Given the description of an element on the screen output the (x, y) to click on. 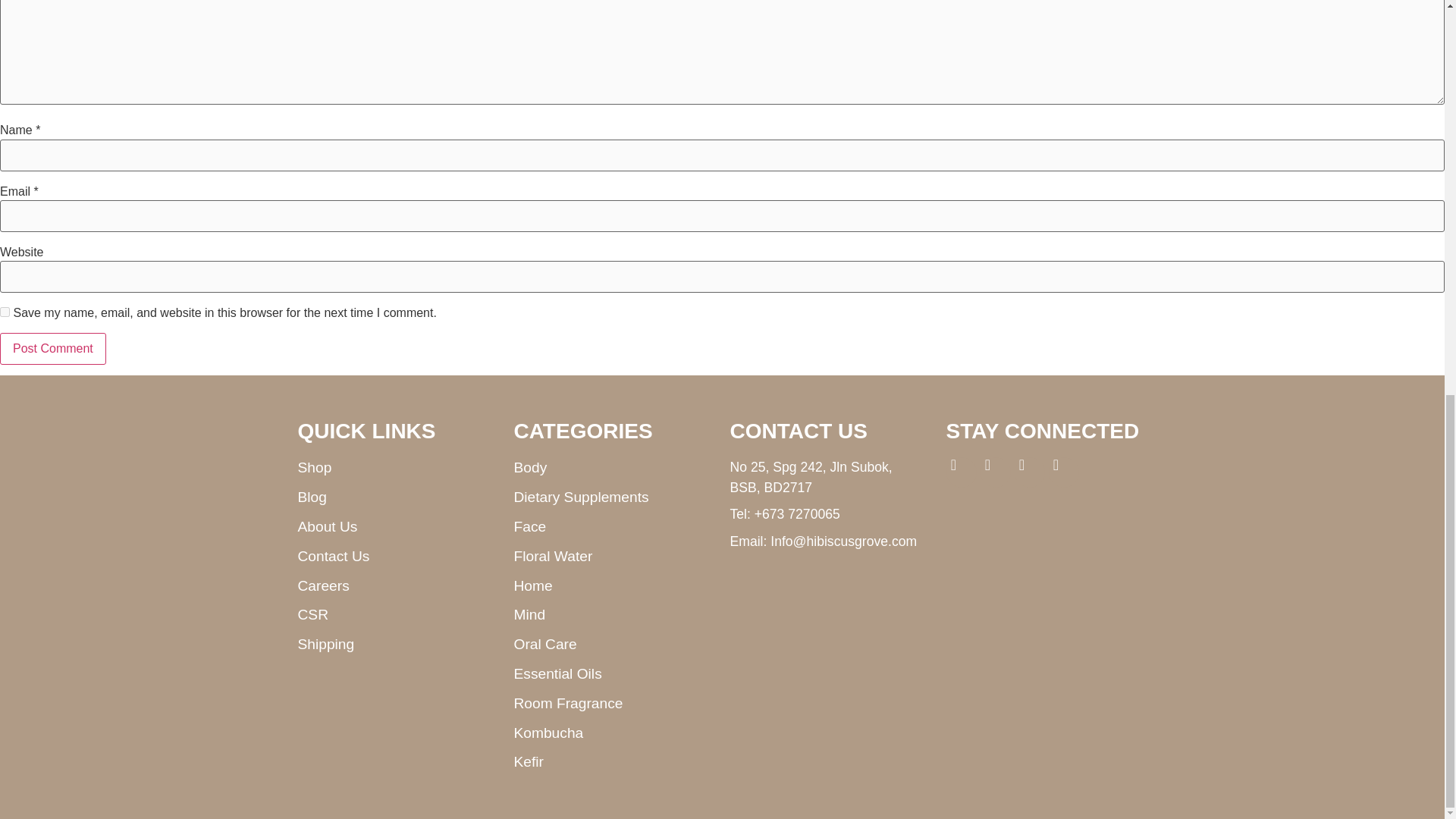
CSR (397, 615)
Contact Us (397, 557)
Body (613, 468)
About Us (397, 527)
Post Comment (53, 348)
Face (613, 527)
Floral Water (613, 557)
Shipping (397, 644)
Shop (397, 468)
Dietary Supplements (613, 497)
yes (5, 311)
Careers (397, 586)
Post Comment (53, 348)
Blog (397, 497)
